Given the description of an element on the screen output the (x, y) to click on. 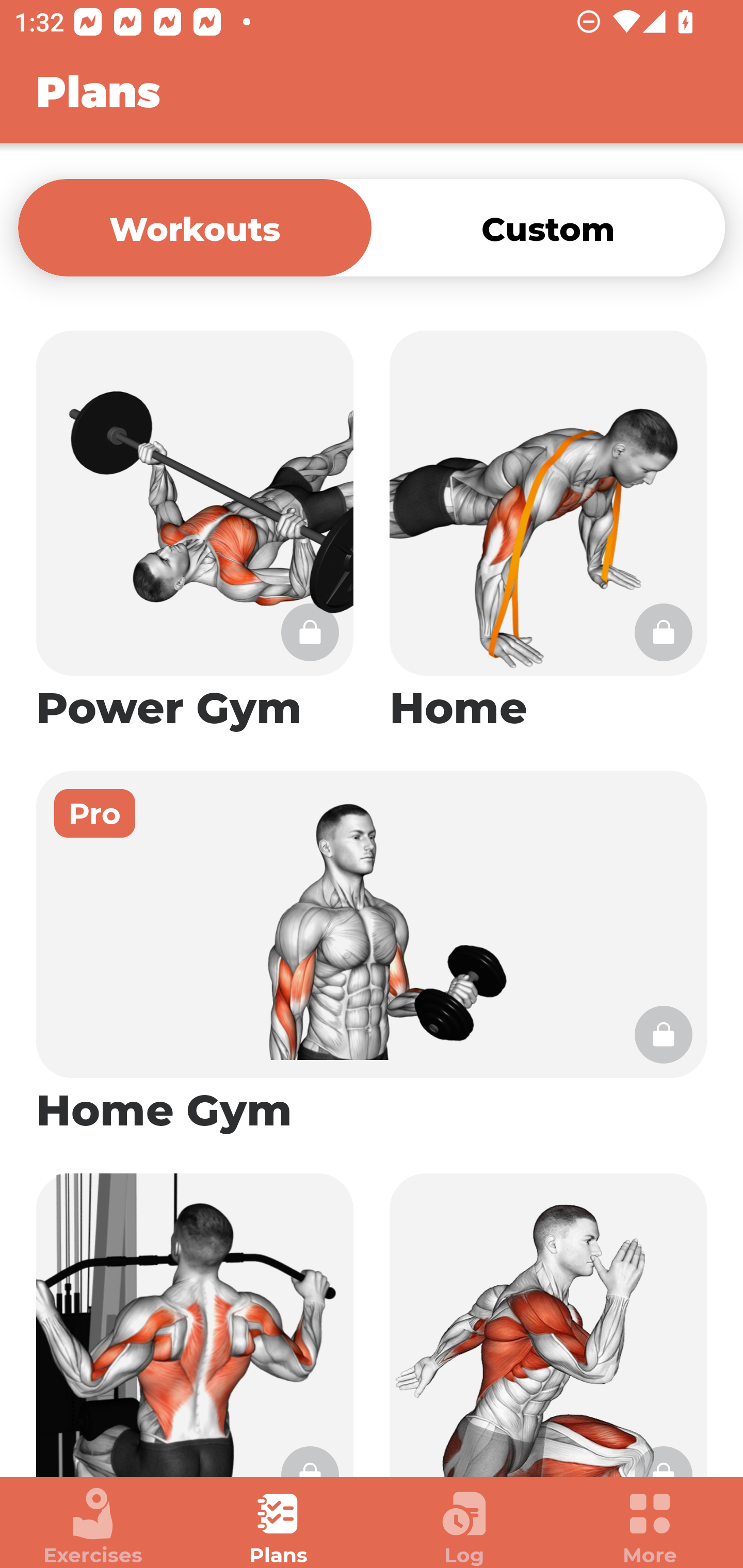
Workouts (194, 226)
Custom (548, 226)
Power Gym (194, 532)
Home (548, 532)
Pro Home Gym (371, 953)
Exercises (92, 1527)
Plans (278, 1527)
Log (464, 1527)
More (650, 1527)
